Given the description of an element on the screen output the (x, y) to click on. 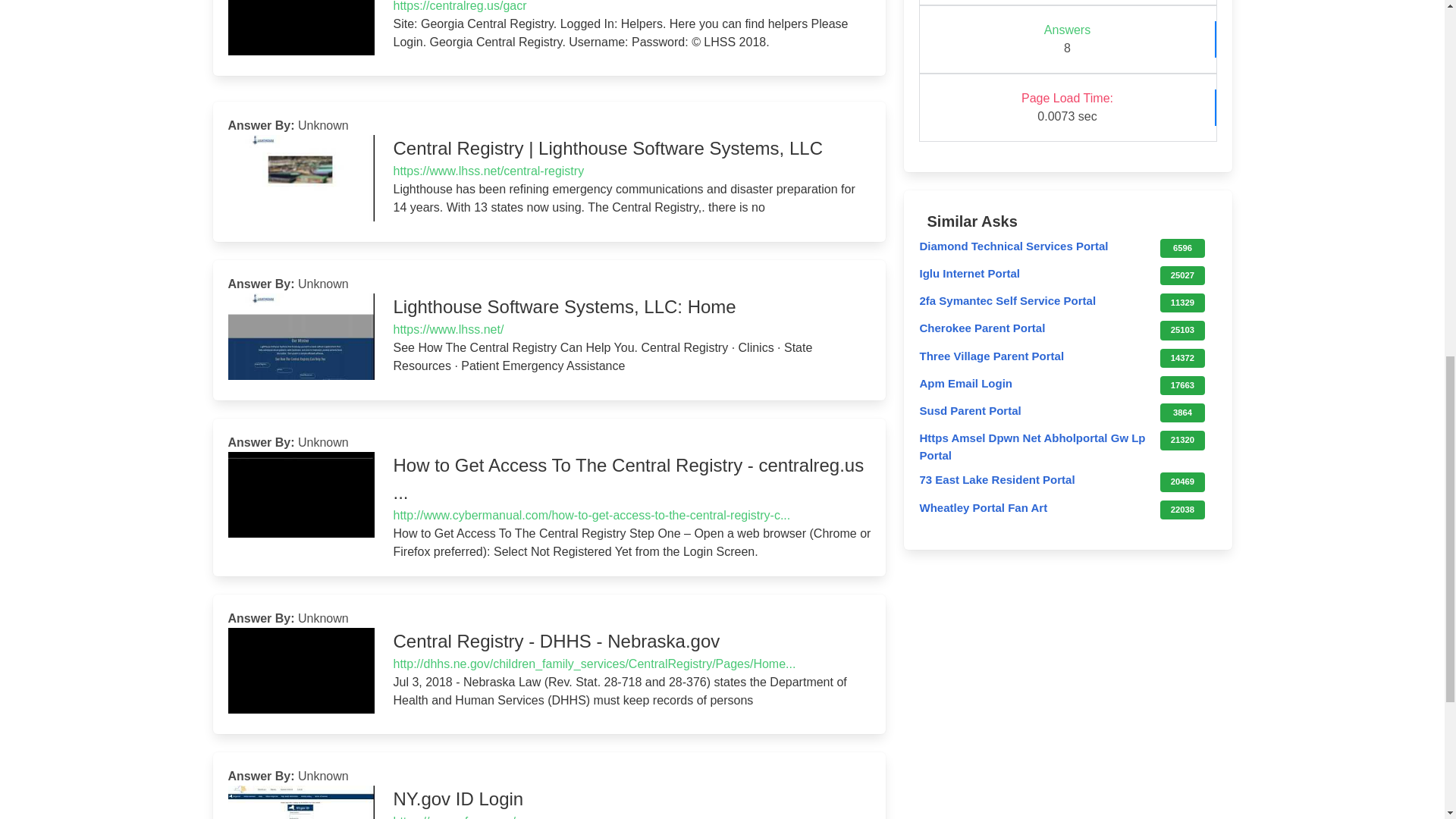
Lighthouse Software Systems, LLC: Home   (1186, 328)
Central Registry - DHHS - Nebraska.gov   (1186, 300)
NY.gov ID Login   (1186, 246)
